Given the description of an element on the screen output the (x, y) to click on. 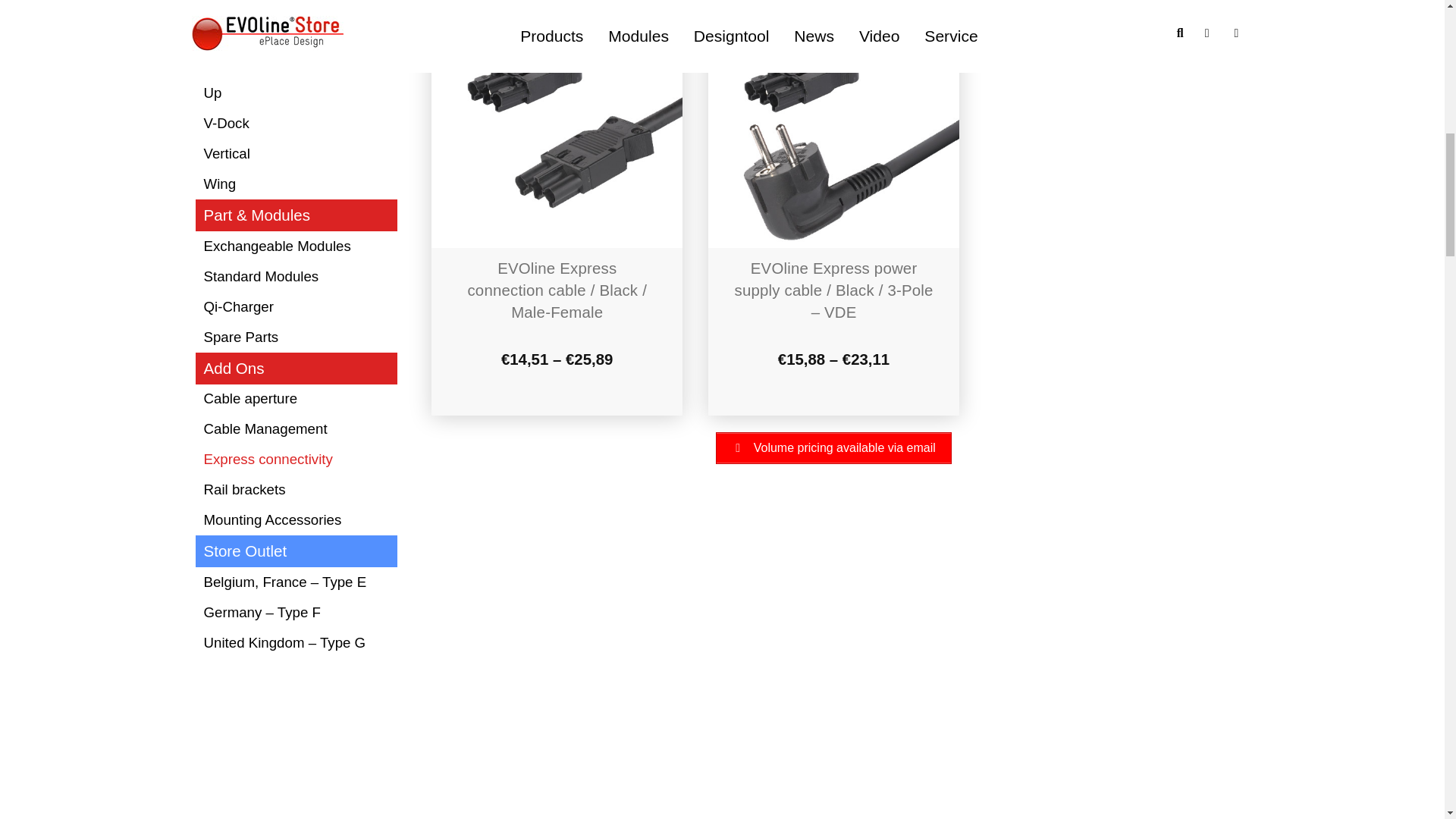
Vertical (296, 154)
R-Dock (296, 9)
Wing (296, 184)
T-Dock (296, 33)
Up (296, 93)
Exchangeable Modules (296, 245)
V-Dock (296, 123)
U-Dock (296, 63)
